Given the description of an element on the screen output the (x, y) to click on. 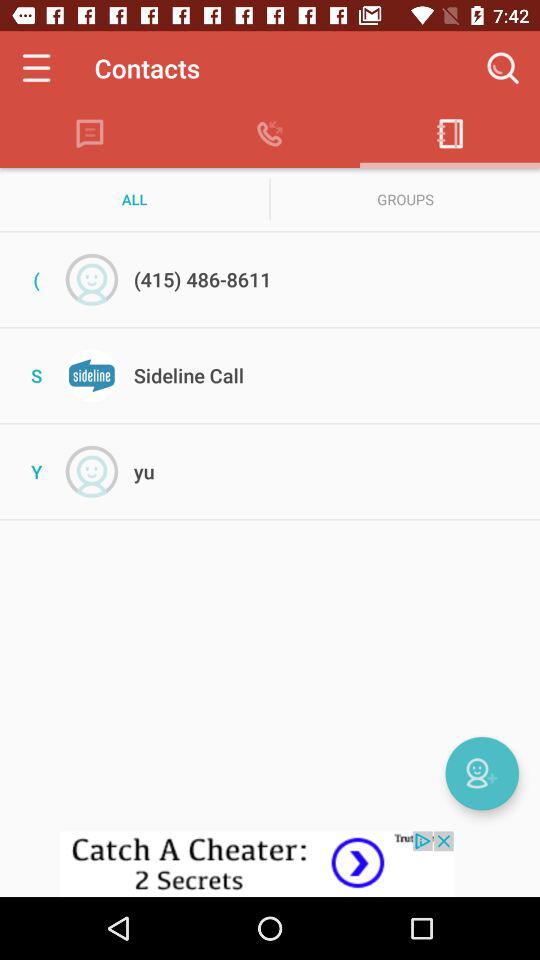
go to add option (482, 773)
